Given the description of an element on the screen output the (x, y) to click on. 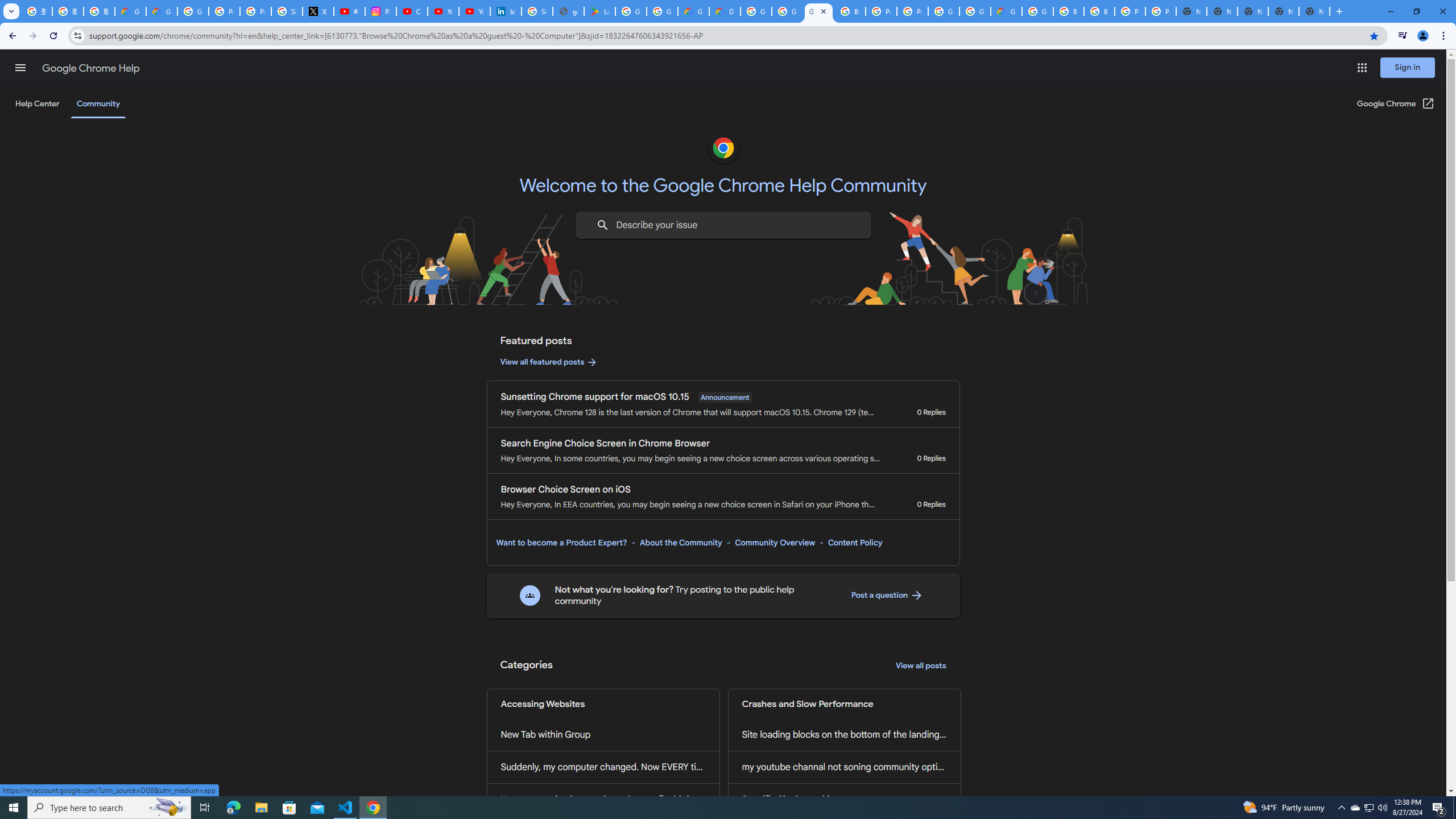
Government | Google Cloud (693, 11)
